Given the description of an element on the screen output the (x, y) to click on. 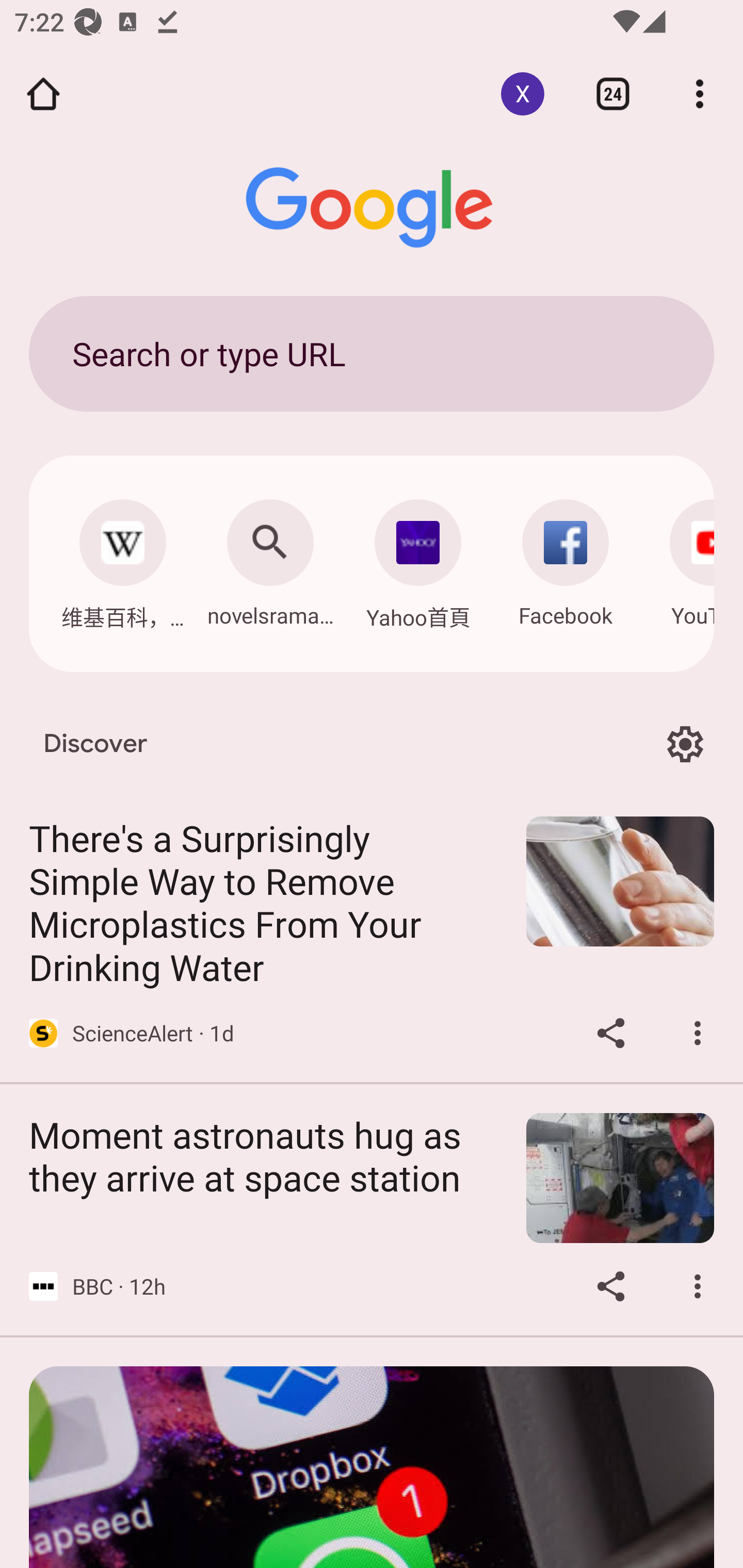
Open the home page (43, 93)
Switch or close tabs (612, 93)
Customize and control Google Chrome (699, 93)
Search or type URL (371, 353)
Navigate: Yahoo首頁: hk.mobi.yahoo.com Yahoo首頁 (417, 558)
Navigate: Facebook: m.facebook.com Facebook (565, 558)
Options for Discover (684, 743)
